Given the description of an element on the screen output the (x, y) to click on. 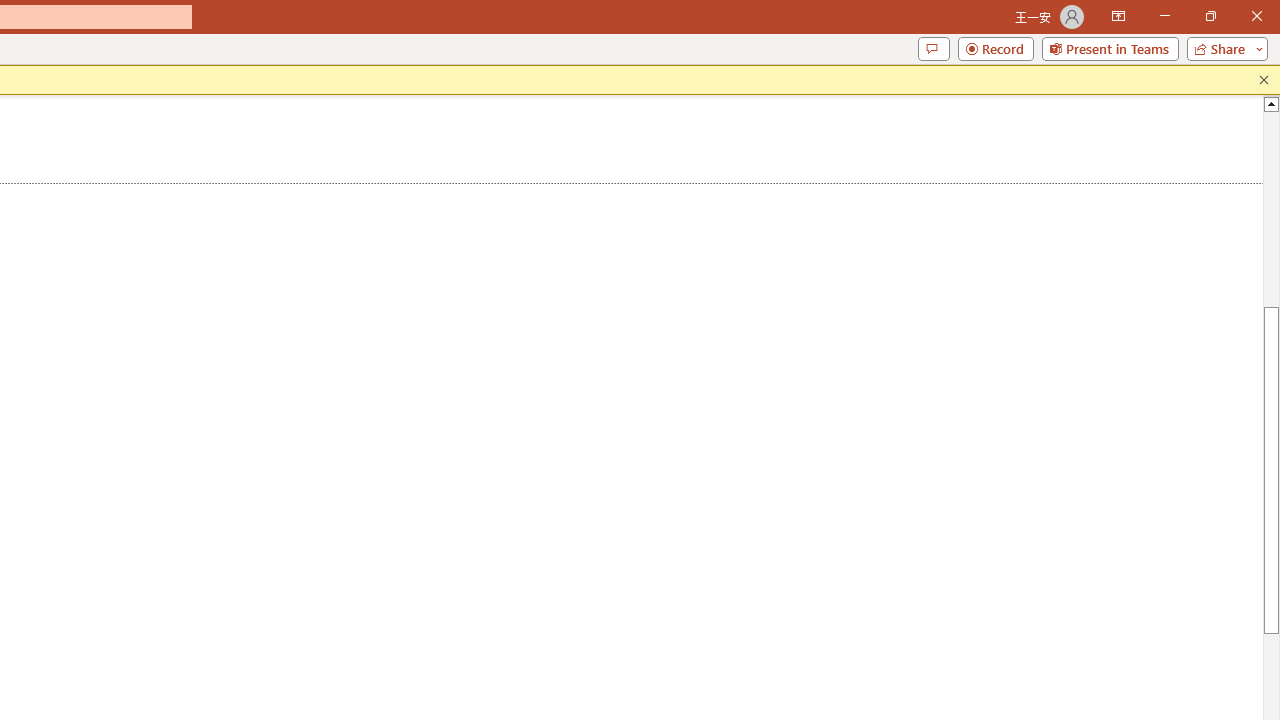
Close this message (1263, 80)
